Given the description of an element on the screen output the (x, y) to click on. 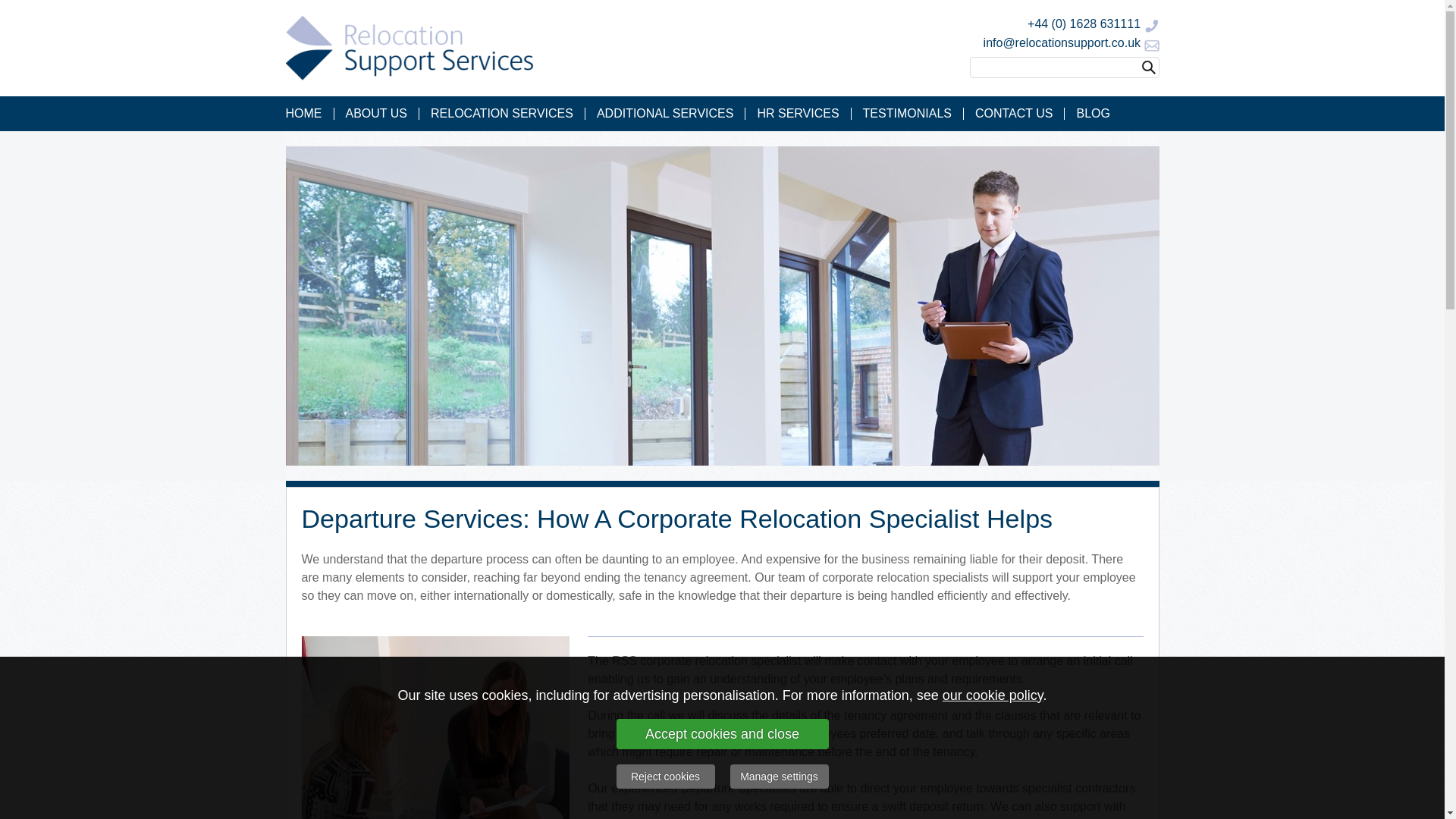
HOME (309, 113)
RELOCATION SERVICES (502, 113)
CONTACT US (1014, 113)
ADDITIONAL SERVICES (665, 113)
ABOUT US (376, 113)
TESTIMONIALS (907, 113)
BLOG (1092, 113)
HR SERVICES (797, 113)
